Given the description of an element on the screen output the (x, y) to click on. 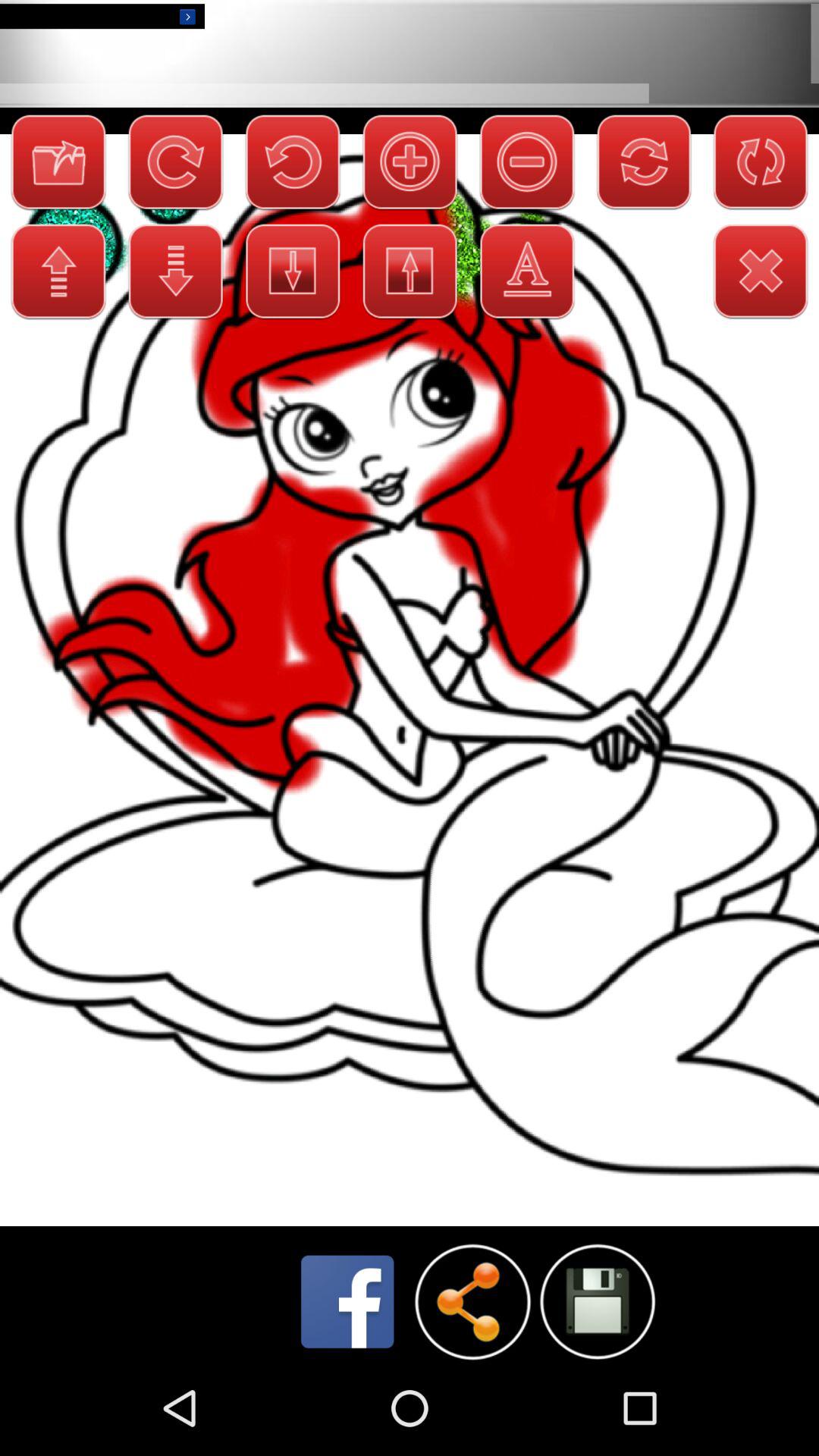
share drawing (472, 1301)
